Given the description of an element on the screen output the (x, y) to click on. 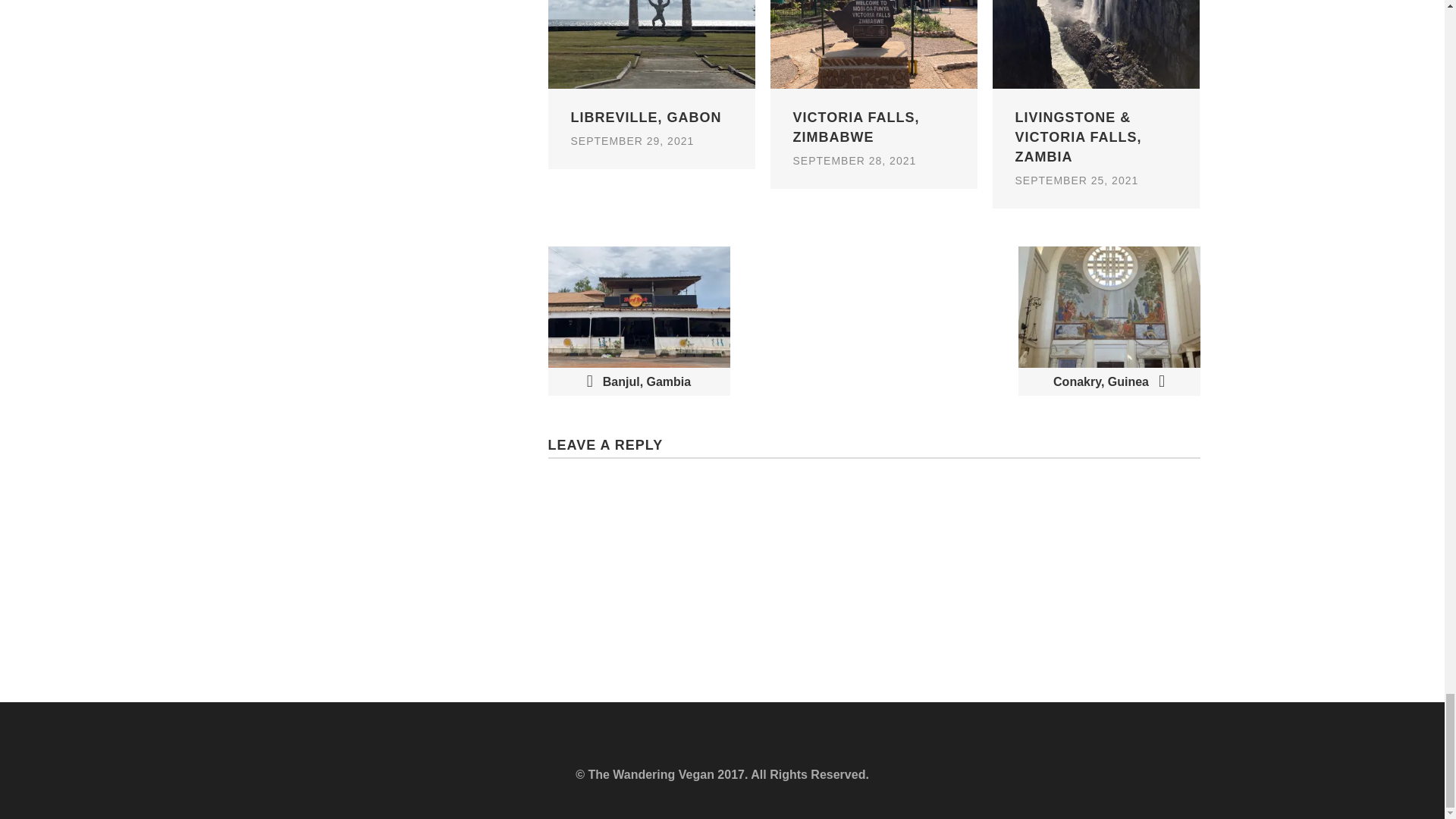
VICTORIA FALLS, ZIMBABWE (874, 137)
LIBREVILLE, GABON (651, 127)
  Banjul, Gambia (638, 320)
Conakry, Guinea   (1108, 320)
